Given the description of an element on the screen output the (x, y) to click on. 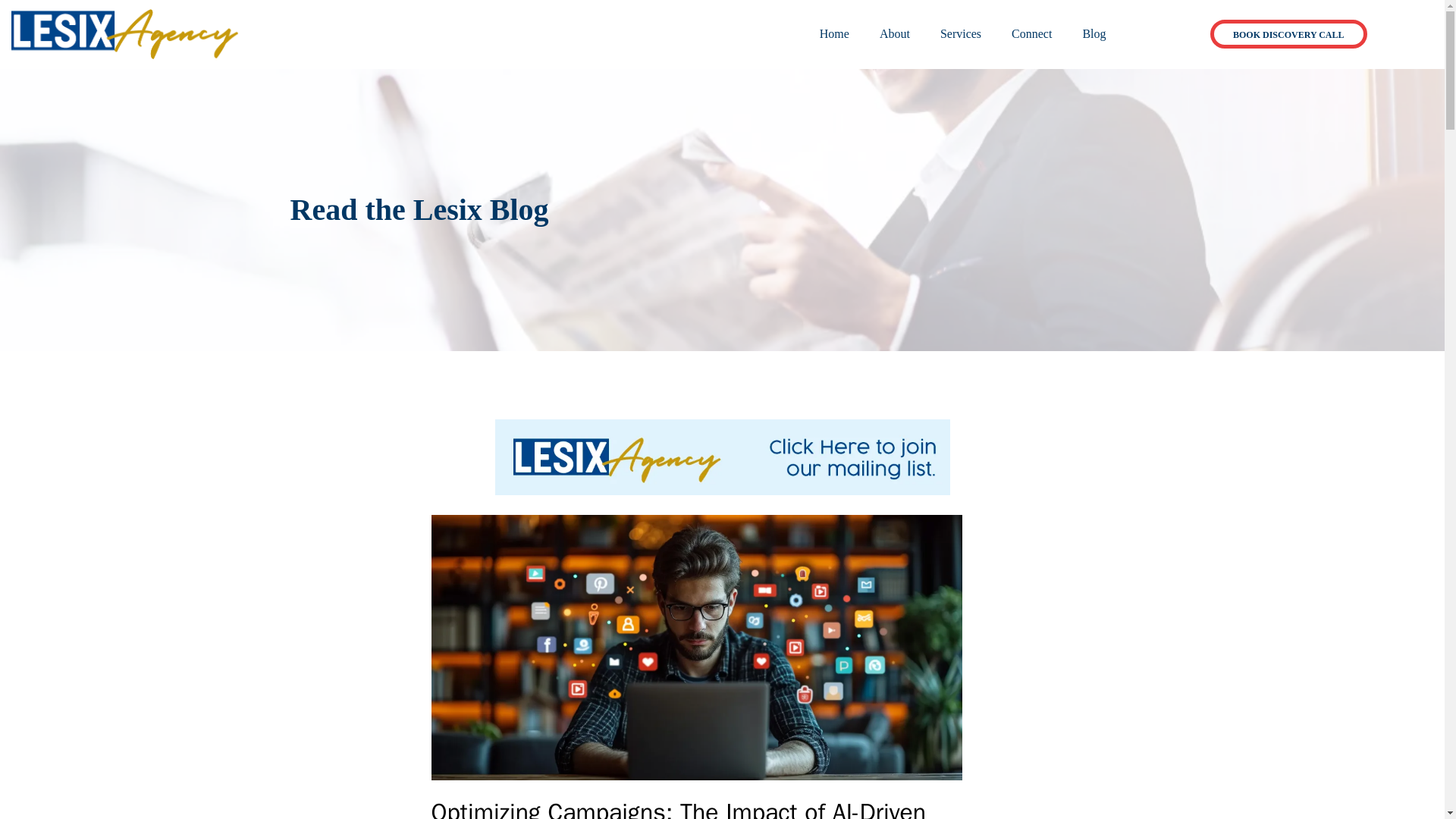
BOOK DISCOVERY CALL (1288, 33)
Services (959, 34)
About (894, 34)
Home (834, 34)
Connect (1031, 34)
Blog (1094, 34)
